Given the description of an element on the screen output the (x, y) to click on. 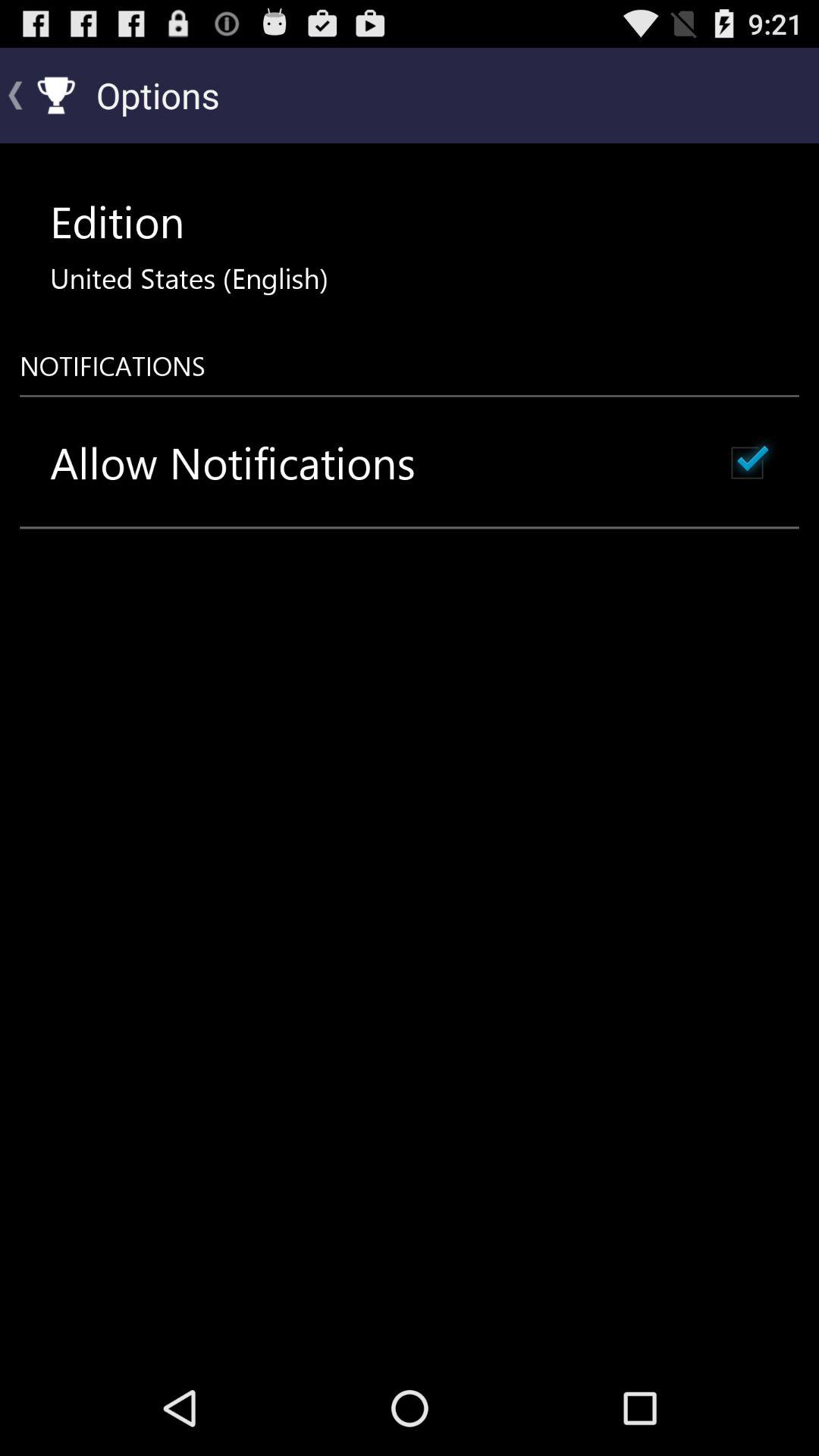
tap the icon below the edition (189, 278)
